Given the description of an element on the screen output the (x, y) to click on. 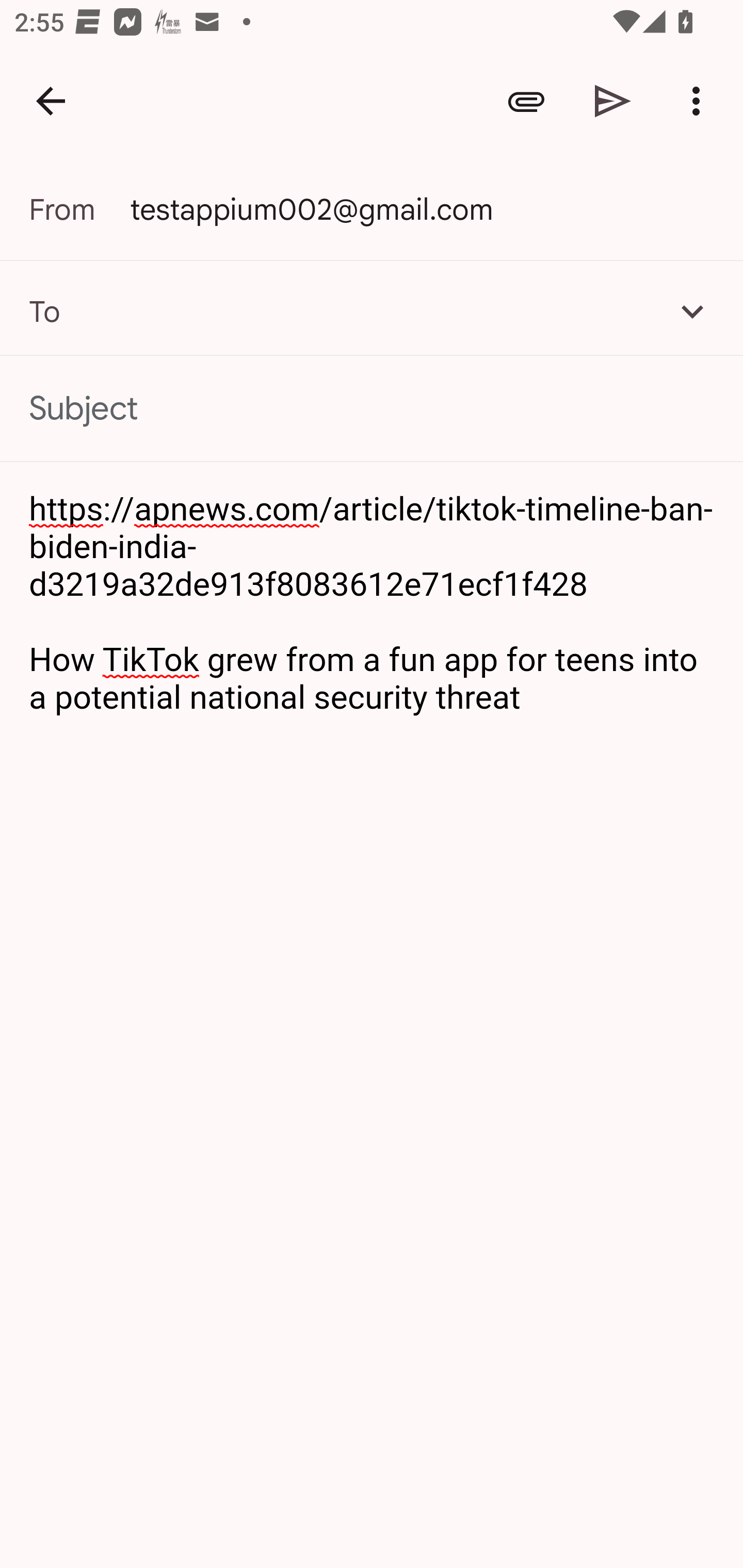
Navigate up (50, 101)
Attach file (525, 101)
Send (612, 101)
More options (699, 101)
From (79, 209)
Add Cc/Bcc (692, 311)
Subject (371, 407)
